Given the description of an element on the screen output the (x, y) to click on. 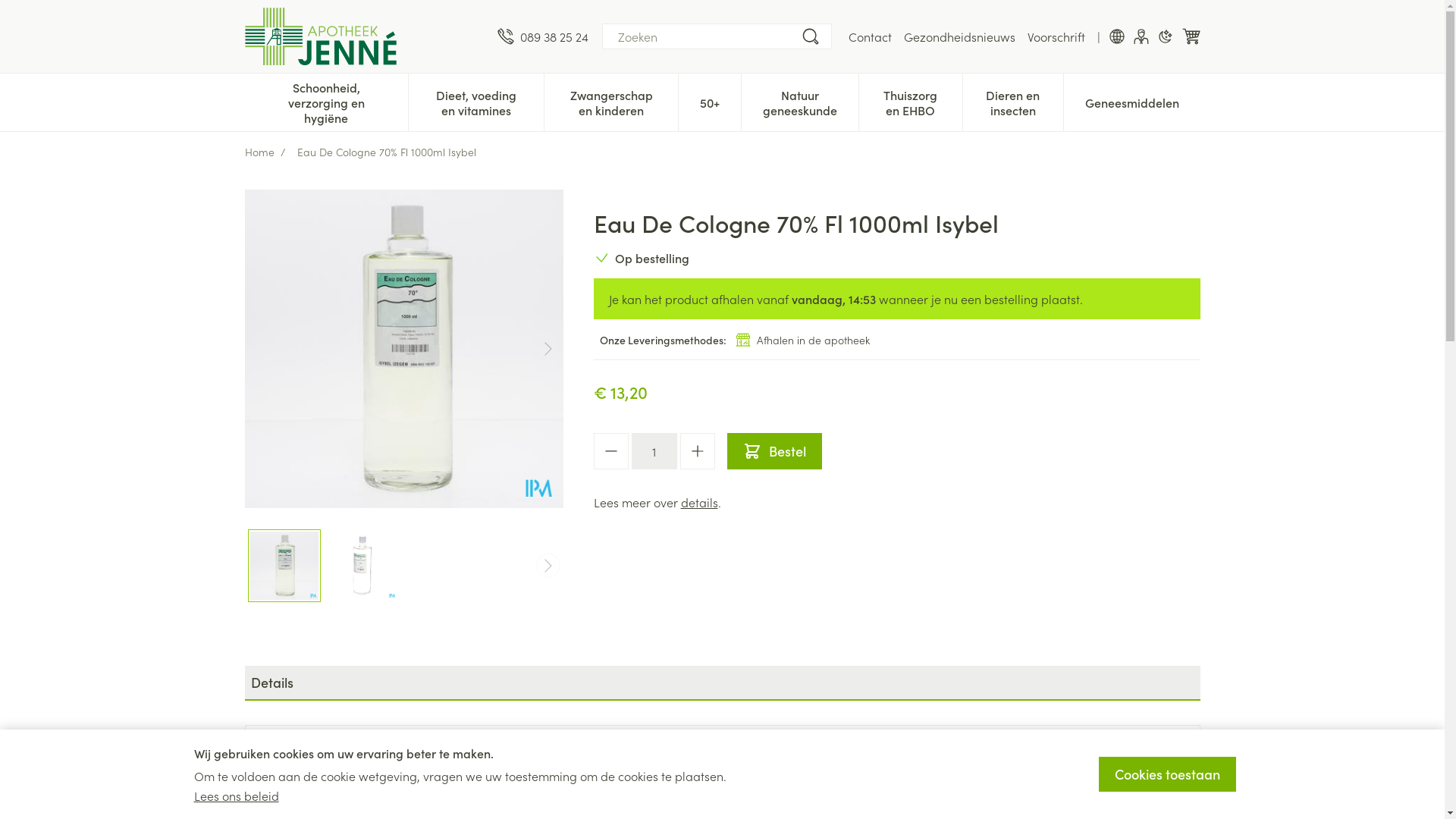
Bestel Element type: text (773, 451)
Natuur geneeskunde Element type: text (799, 100)
Contact Element type: text (869, 36)
Gezondheidsnieuws Element type: text (959, 36)
Dieet, voeding en vitamines Element type: text (475, 100)
Thuiszorg en EHBO Element type: text (910, 100)
50+ Element type: text (709, 100)
Voorschrift Element type: text (1055, 36)
Donkere modus Element type: text (1164, 35)
089 38 25 24 Element type: text (542, 36)
Eau De Cologne 70% Fl 1000ml Isybel Element type: hover (284, 565)
Cookies toestaan Element type: text (1166, 773)
Geneesmiddelen Element type: text (1131, 100)
Talen Element type: text (1115, 35)
Winkelwagen Element type: text (1190, 36)
Eau De Cologne 70% Fl 1000ml Isybel Element type: hover (403, 348)
Zoeken Element type: text (809, 36)
Dieren en insecten Element type: text (1013, 100)
Home Element type: text (258, 151)
Klant menu Element type: text (1140, 35)
Eau De Cologne 70% Fl 1000ml Isybel 1 Element type: hover (363, 565)
Zwangerschap en kinderen Element type: text (610, 100)
Lees ons beleid Element type: text (236, 795)
